Given the description of an element on the screen output the (x, y) to click on. 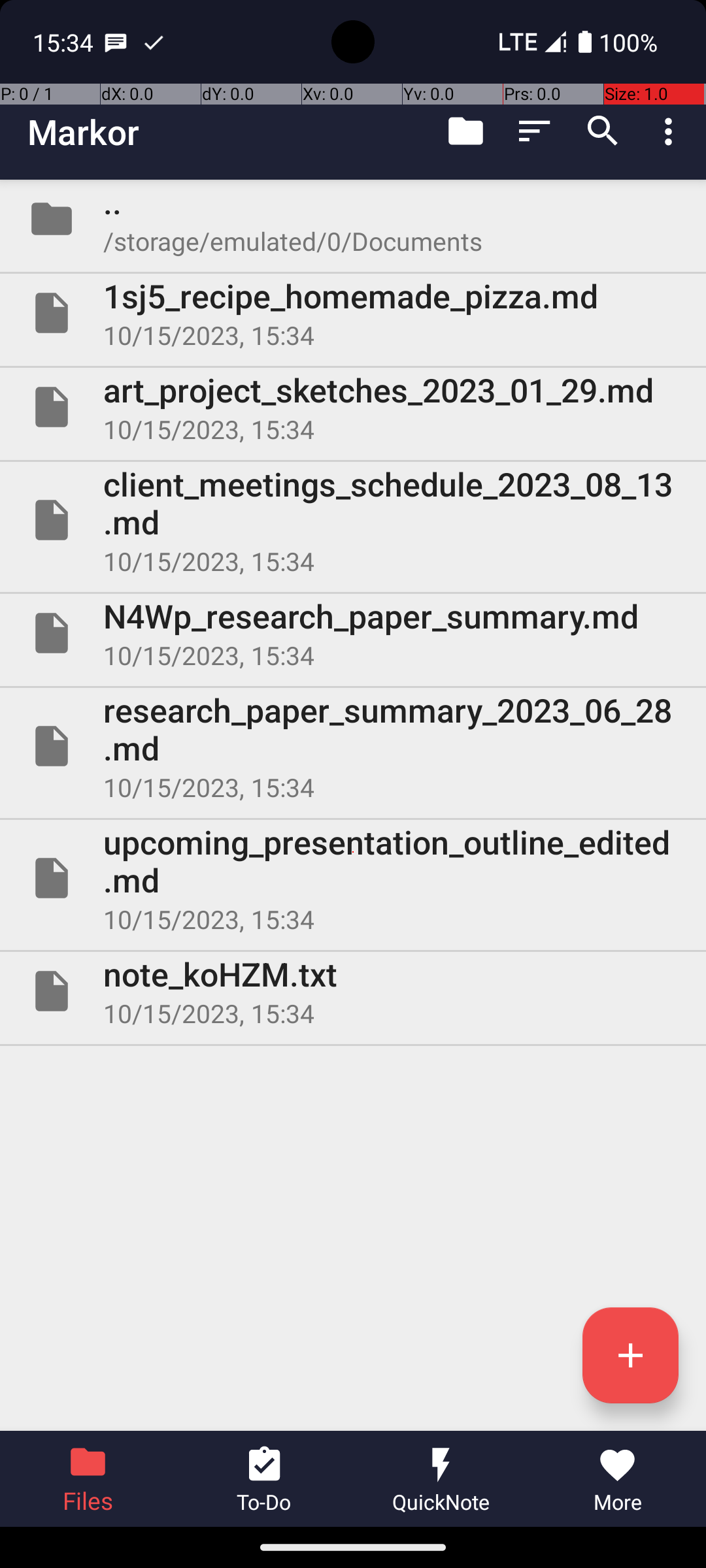
File 1sj5_recipe_homemade_pizza.md  Element type: android.widget.LinearLayout (353, 312)
File art_project_sketches_2023_01_29.md  Element type: android.widget.LinearLayout (353, 406)
File client_meetings_schedule_2023_08_13.md  Element type: android.widget.LinearLayout (353, 519)
File N4Wp_research_paper_summary.md  Element type: android.widget.LinearLayout (353, 632)
File research_paper_summary_2023_06_28.md  Element type: android.widget.LinearLayout (353, 745)
File upcoming_presentation_outline_edited.md  Element type: android.widget.LinearLayout (353, 877)
File note_koHZM.txt  Element type: android.widget.LinearLayout (353, 990)
